Given the description of an element on the screen output the (x, y) to click on. 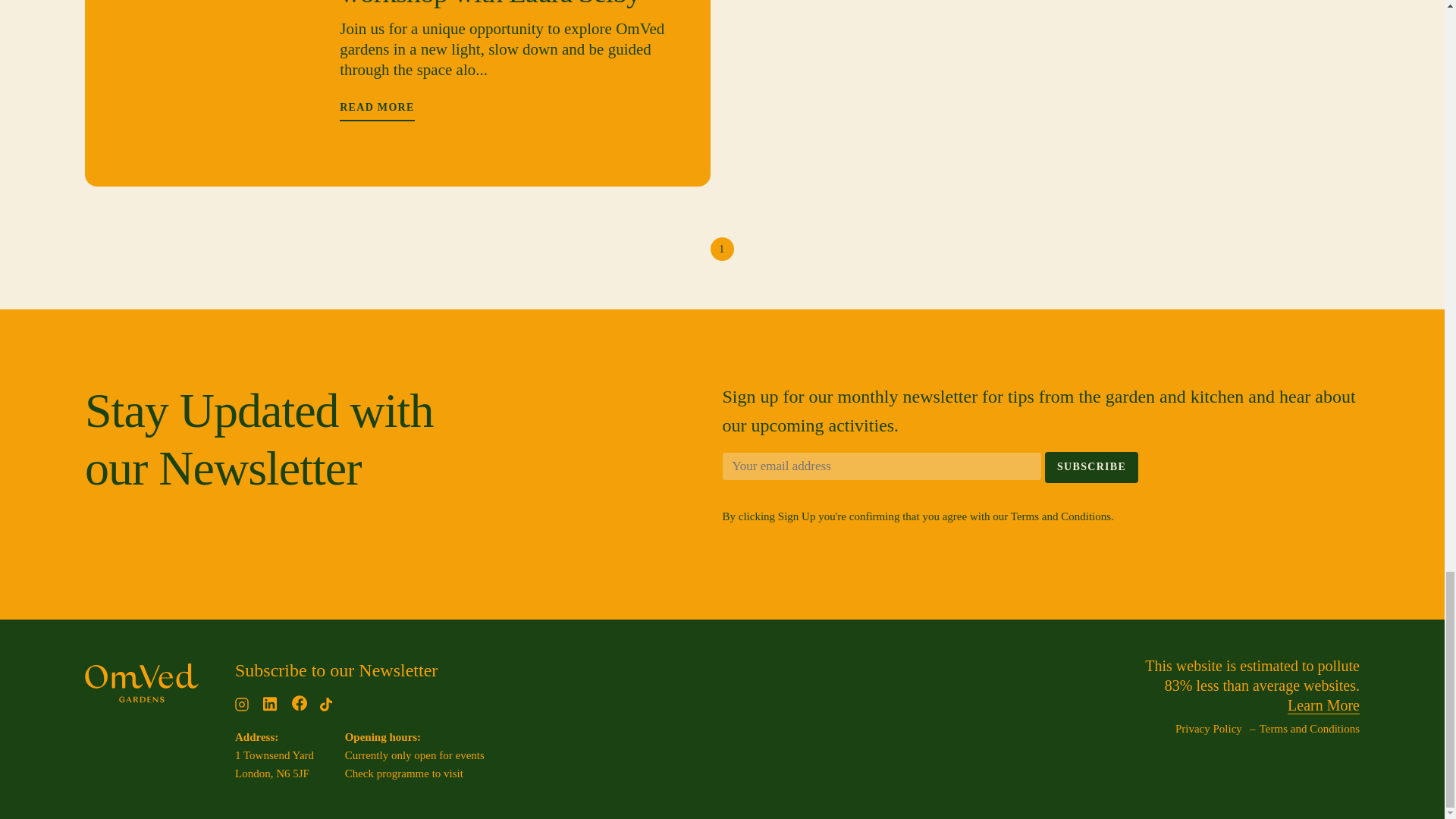
Subscribe (1091, 467)
Subscribe (1091, 467)
1 (721, 249)
Environmental Declaration (1323, 704)
Subscribe to our Newsletter (336, 670)
